Given the description of an element on the screen output the (x, y) to click on. 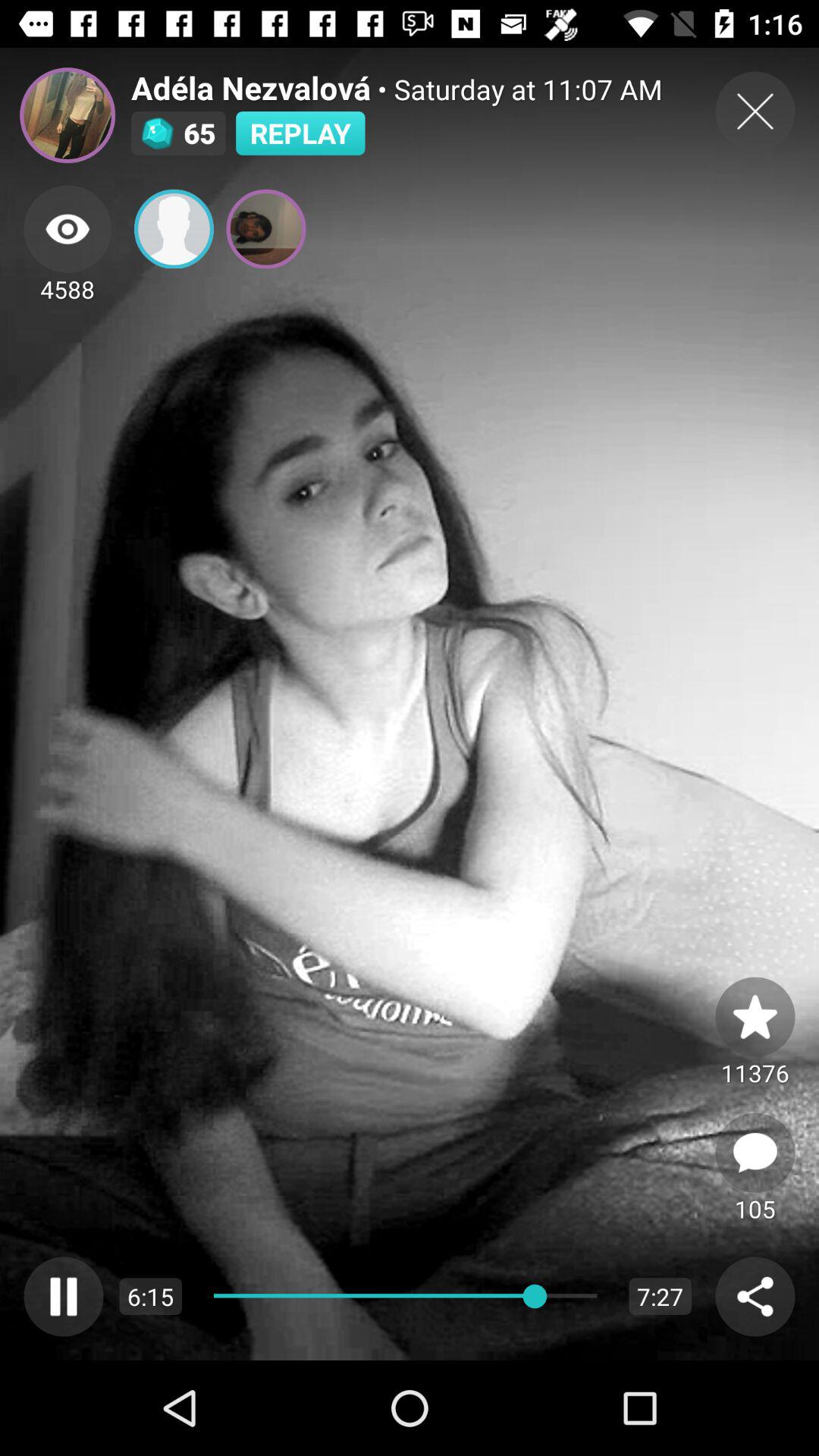
favorite picture (755, 1016)
